Given the description of an element on the screen output the (x, y) to click on. 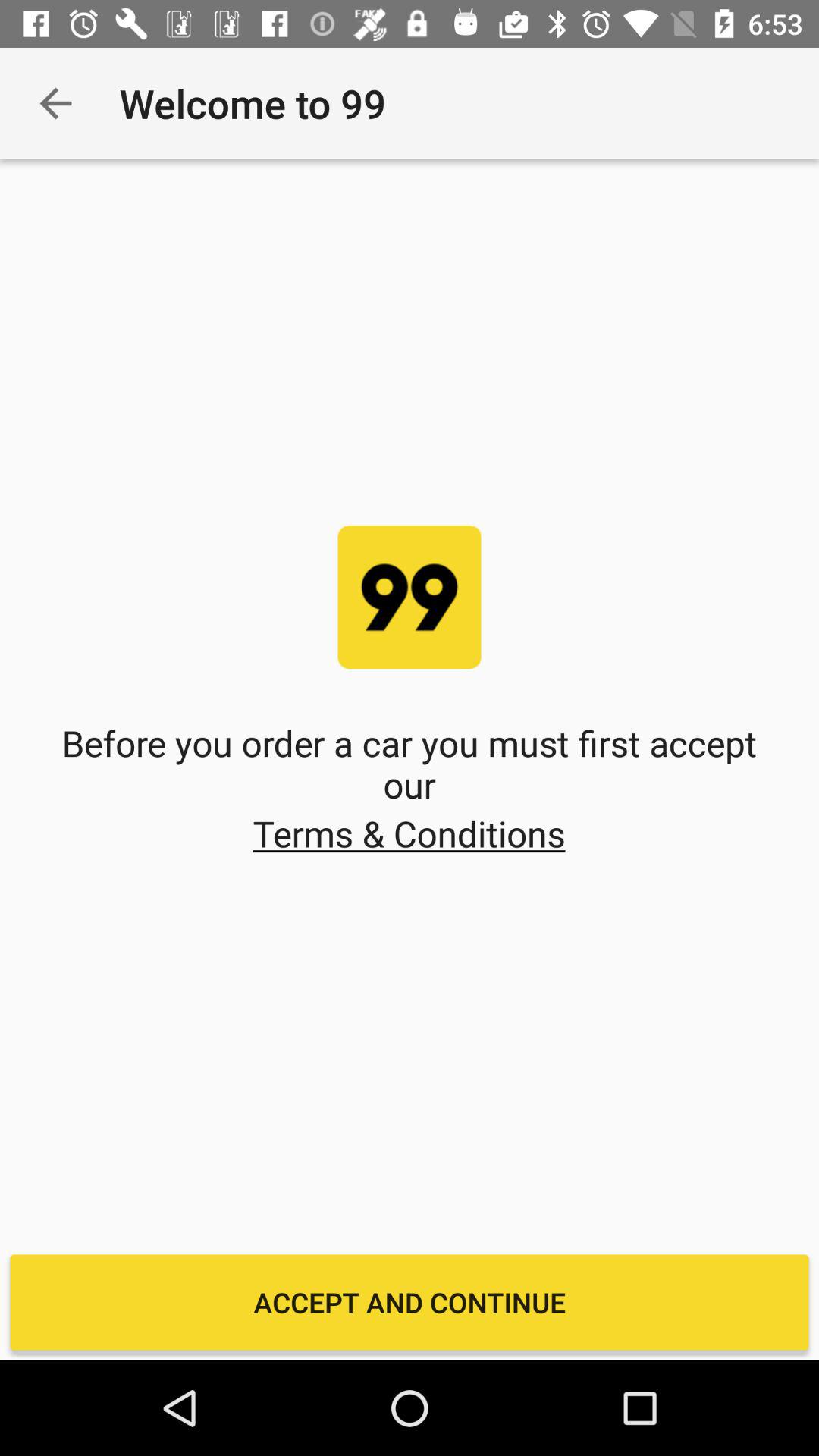
click the app to the left of the welcome to 99 item (55, 103)
